Given the description of an element on the screen output the (x, y) to click on. 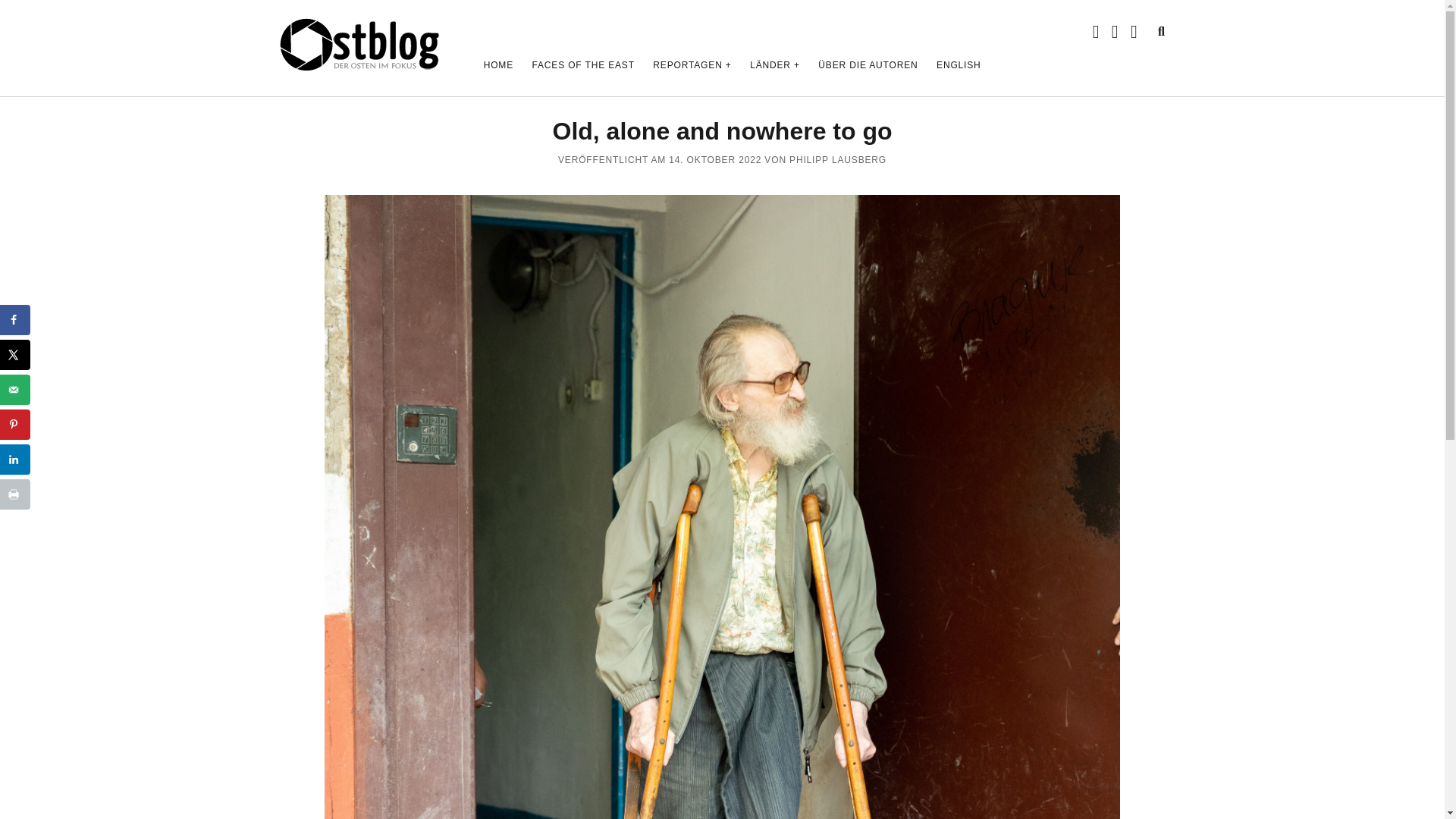
English (958, 65)
Ostblog (361, 64)
Share on X (15, 354)
Save to Pinterest (15, 424)
Share on Facebook (15, 319)
HOME (498, 65)
twitter (1096, 31)
flickr (1134, 31)
Share on LinkedIn (15, 459)
Print this webpage (15, 494)
REPORTAGEN (691, 65)
facebook (1115, 31)
Send over email (15, 389)
FACES OF THE EAST (582, 65)
